Given the description of an element on the screen output the (x, y) to click on. 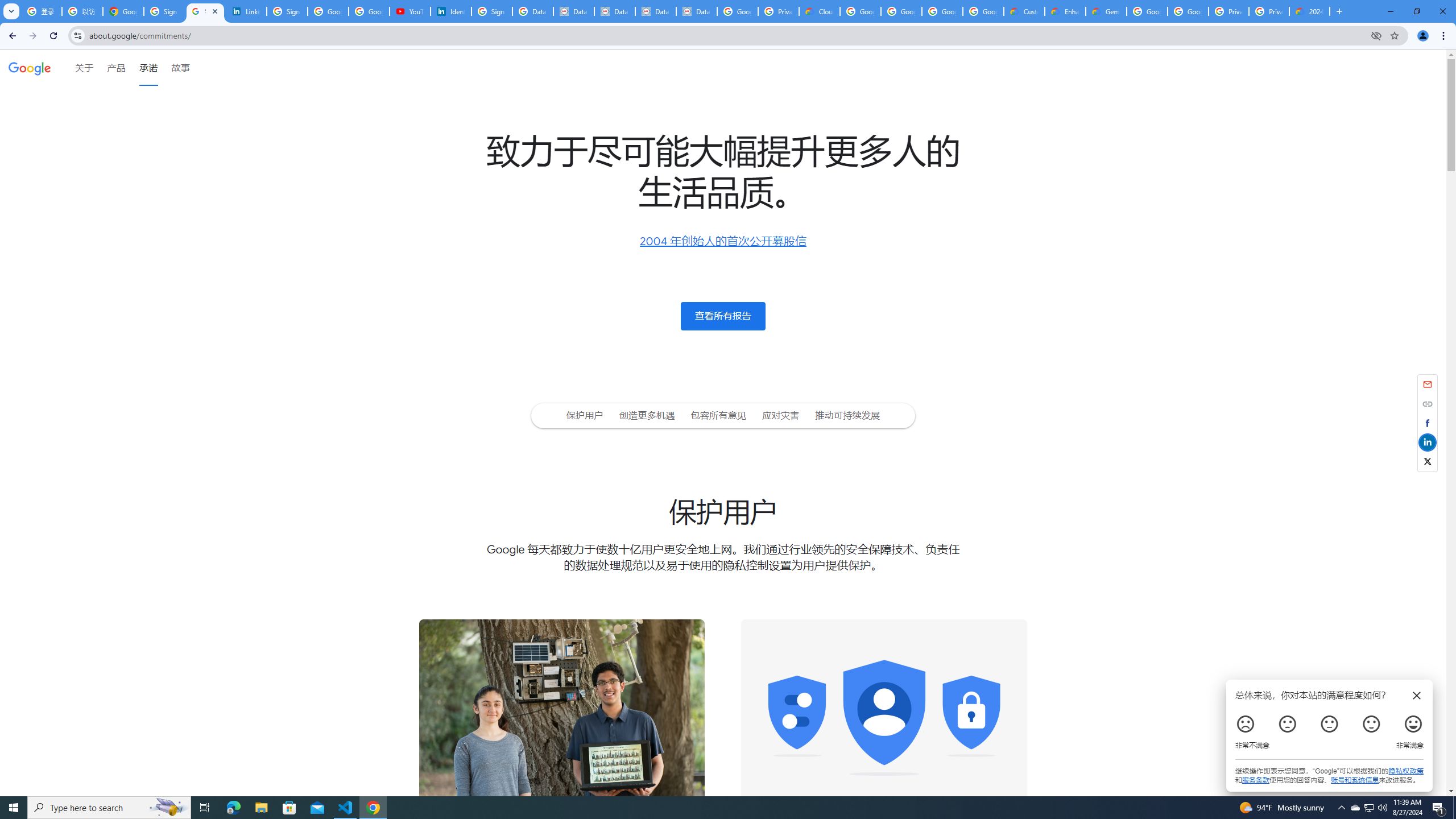
Google Workspace - Specific Terms (942, 11)
